Given the description of an element on the screen output the (x, y) to click on. 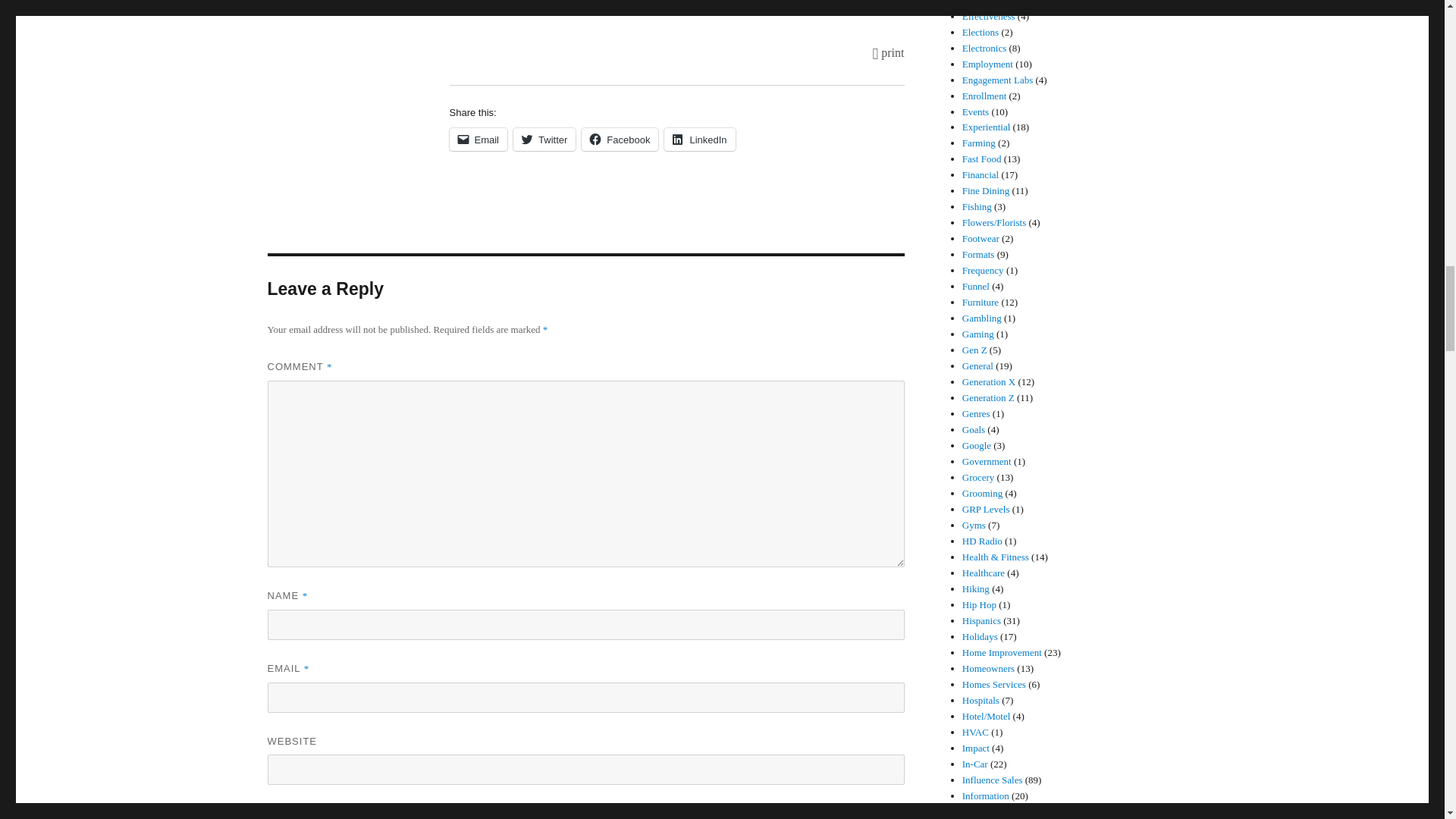
Facebook (619, 138)
Email (477, 138)
Click to email a link to a friend (477, 138)
Click to share on Facebook (619, 138)
Click to share on Twitter (544, 138)
LinkedIn (699, 138)
yes (271, 814)
Click to share on LinkedIn (699, 138)
Twitter (544, 138)
